Given the description of an element on the screen output the (x, y) to click on. 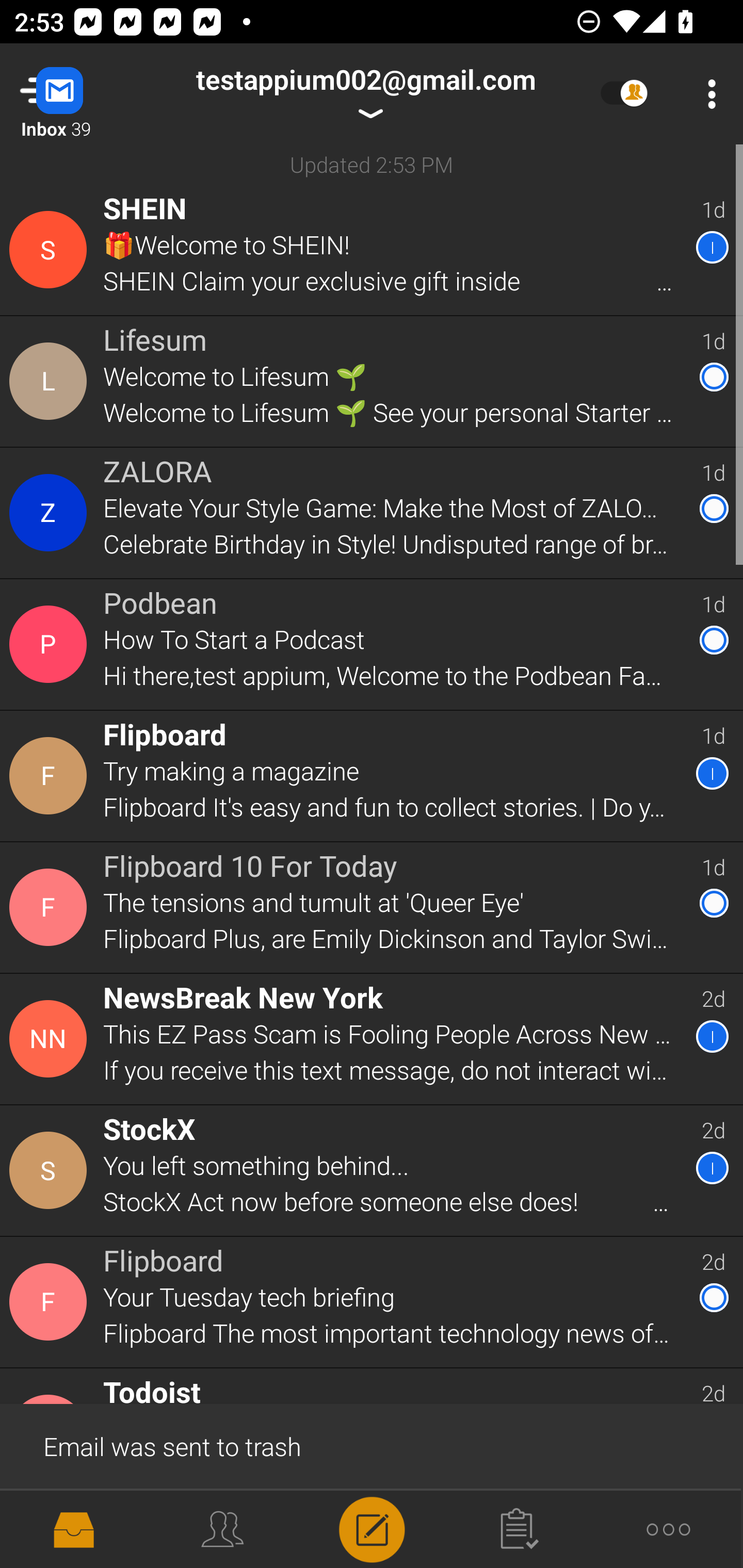
Navigate up (81, 93)
testappium002@gmail.com (365, 93)
More Options (706, 93)
Updated 2:53 PM (371, 164)
Contact Details (50, 250)
Contact Details (50, 381)
Contact Details (50, 513)
Contact Details (50, 644)
Contact Details (50, 776)
Contact Details (50, 907)
Contact Details (50, 1038)
Contact Details (50, 1170)
Contact Details (50, 1302)
Email was sent to trash (371, 1445)
Compose (371, 1528)
